Given the description of an element on the screen output the (x, y) to click on. 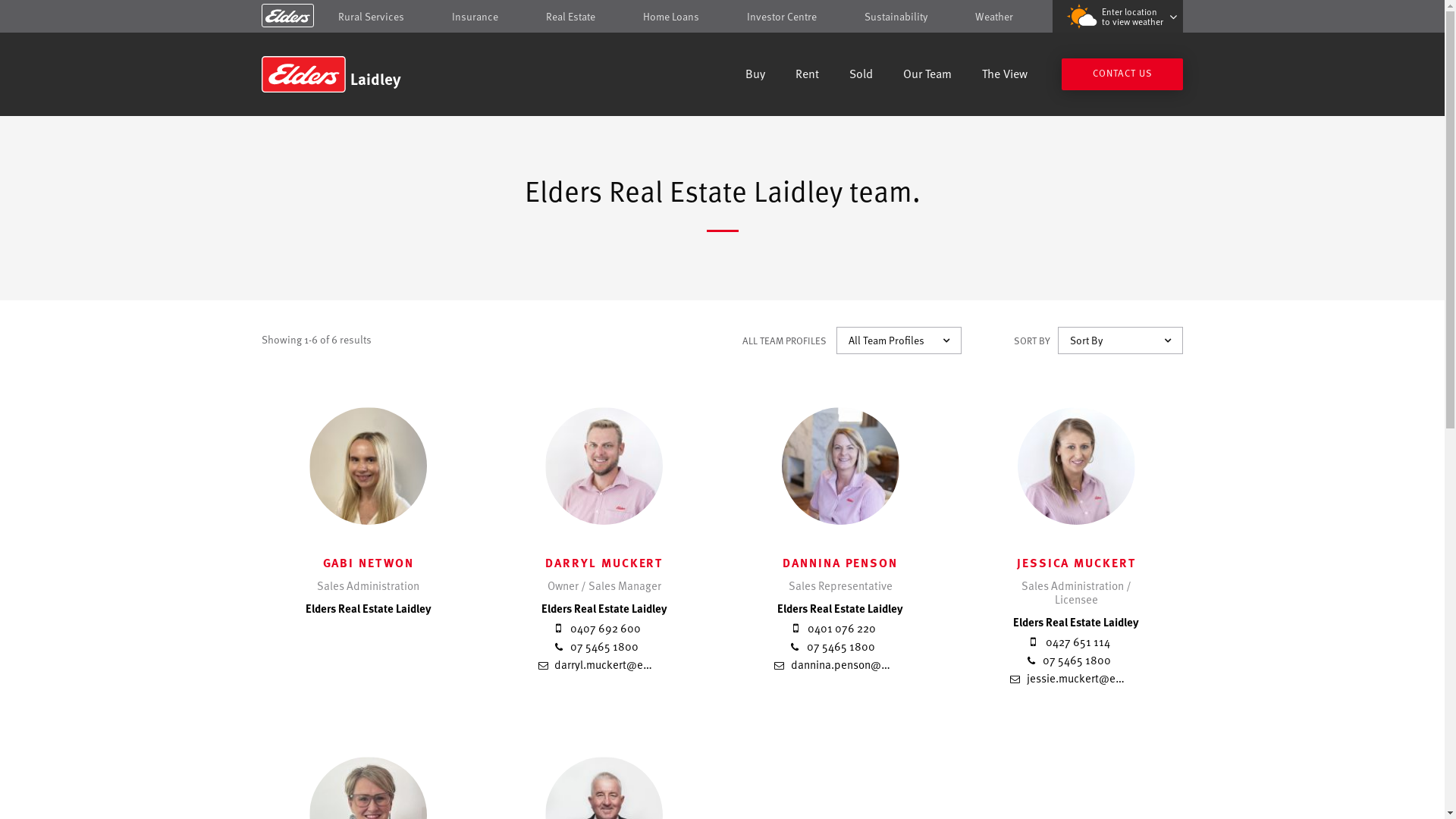
Weather Element type: text (994, 16)
Laidley Element type: text (369, 74)
0427 651 114 Element type: text (1068, 641)
Sustainability Element type: text (895, 16)
Home Loans Element type: text (671, 16)
0401 076 220 Element type: text (831, 627)
Sold Element type: text (860, 75)
Skip to content Element type: text (722, 17)
Our Team Element type: text (927, 75)
dannina.penson@eldersrealestate.com.au Element type: text (886, 663)
darryl.muckert@eldersrealestate.com.au Element type: text (646, 663)
Enter location to view weather Element type: text (1117, 16)
Rural Services Element type: text (371, 16)
Rent Element type: text (807, 75)
jessie.muckert@eldersrealestate.com.au Element type: text (1118, 677)
07 5465 1800 Element type: text (831, 645)
Real Estate Element type: text (570, 16)
Buy Element type: text (755, 75)
CONTACT US Element type: text (1122, 74)
Investor Centre Element type: text (781, 16)
07 5465 1800 Element type: text (1067, 659)
The View Element type: text (1004, 75)
07 5465 1800 Element type: text (595, 645)
Insurance Element type: text (474, 16)
0407 692 600 Element type: text (595, 627)
